Given the description of an element on the screen output the (x, y) to click on. 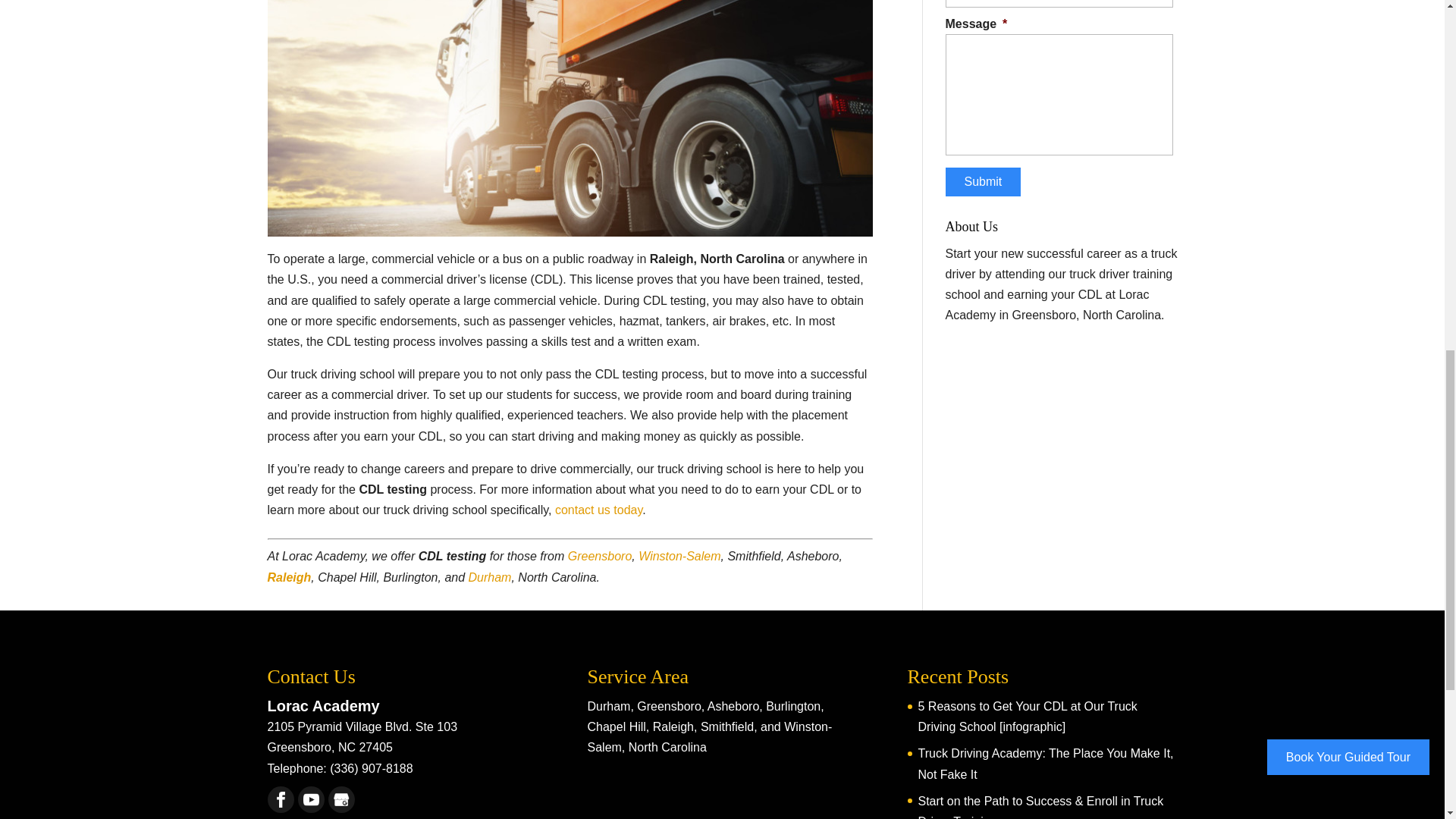
Greensboro (599, 555)
Facebook (280, 799)
contact us today (598, 509)
Raleigh (288, 576)
Google My Business (341, 799)
YouTube (310, 799)
Facebook (280, 799)
Durham (490, 576)
Winston-Salem (679, 555)
Google My Business (340, 799)
